Given the description of an element on the screen output the (x, y) to click on. 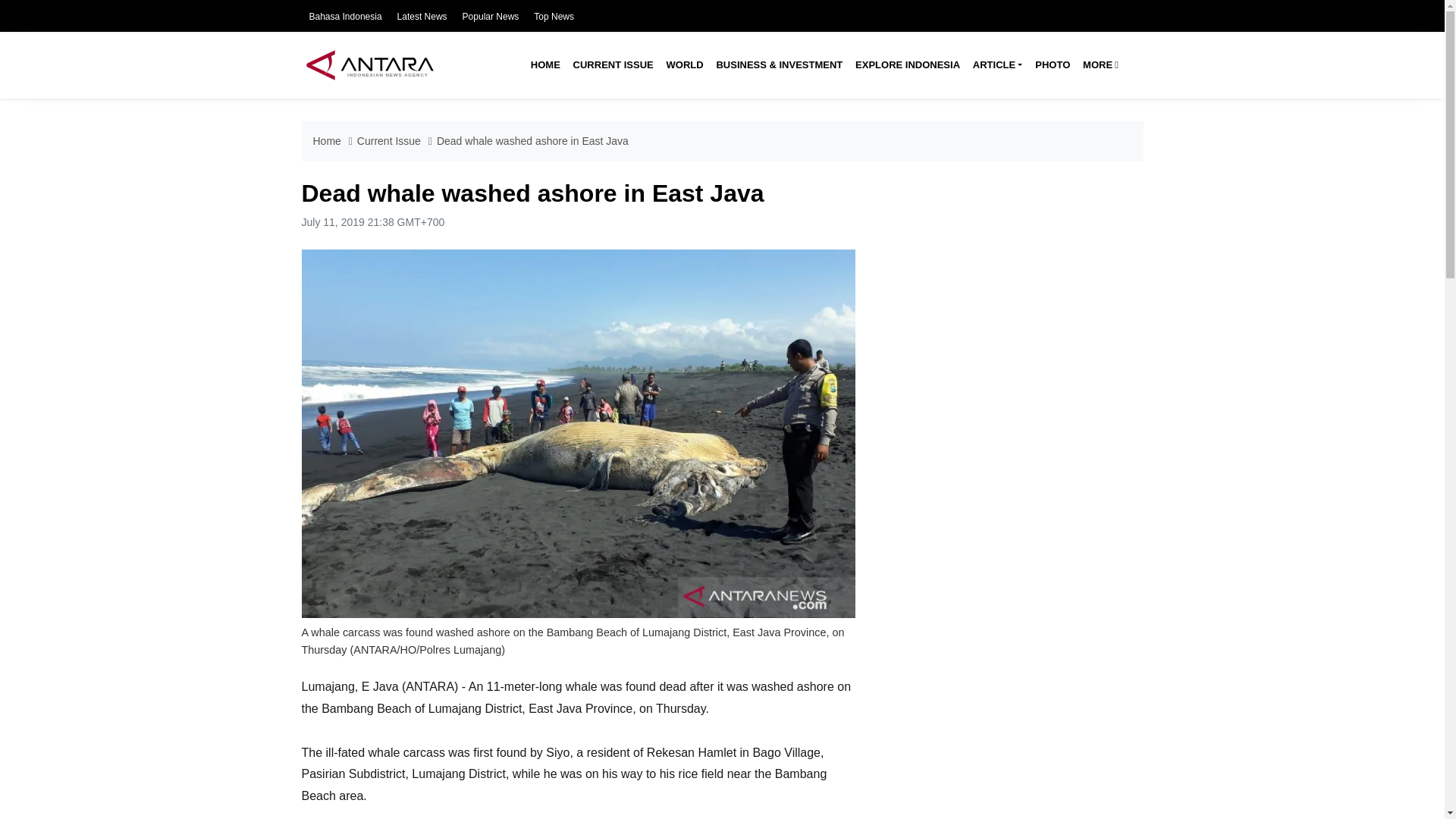
EXPLORE INDONESIA (907, 64)
CURRENT ISSUE (612, 64)
Current Issue (612, 64)
Latest News (421, 16)
Top News (553, 16)
Popular News (491, 16)
Article (996, 64)
Popular News (491, 16)
Bahasa Indonesia (344, 16)
Latest News (421, 16)
